Given the description of an element on the screen output the (x, y) to click on. 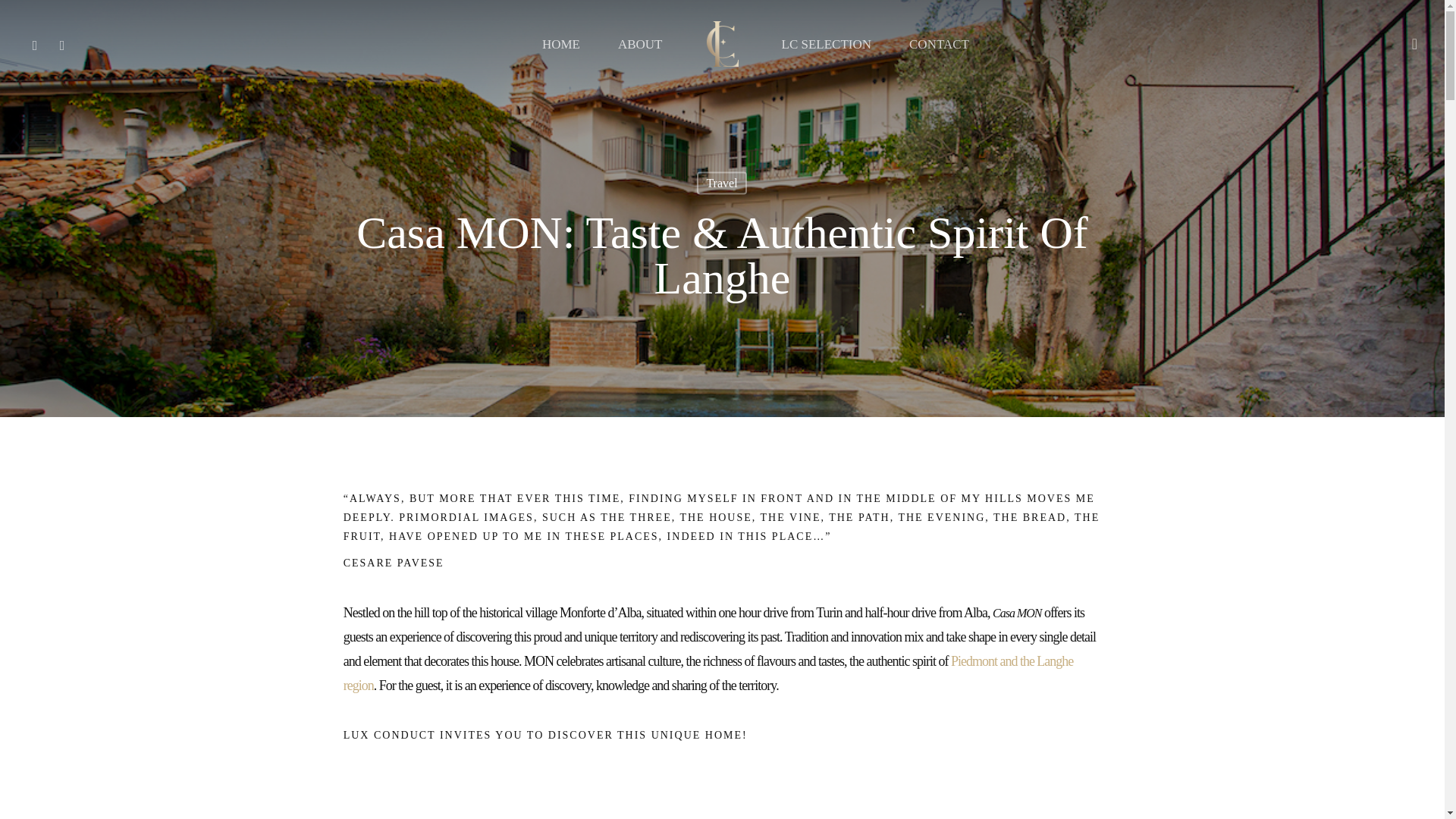
HOME (560, 44)
ABOUT (639, 44)
LC SELECTION (826, 44)
Instagram (61, 43)
search (1414, 44)
Travel (721, 182)
Facebook (34, 43)
Piedmont and the Langhe region (708, 672)
Page 2 (722, 672)
1 (569, 626)
CONTACT (938, 44)
subscribe (594, 677)
